Given the description of an element on the screen output the (x, y) to click on. 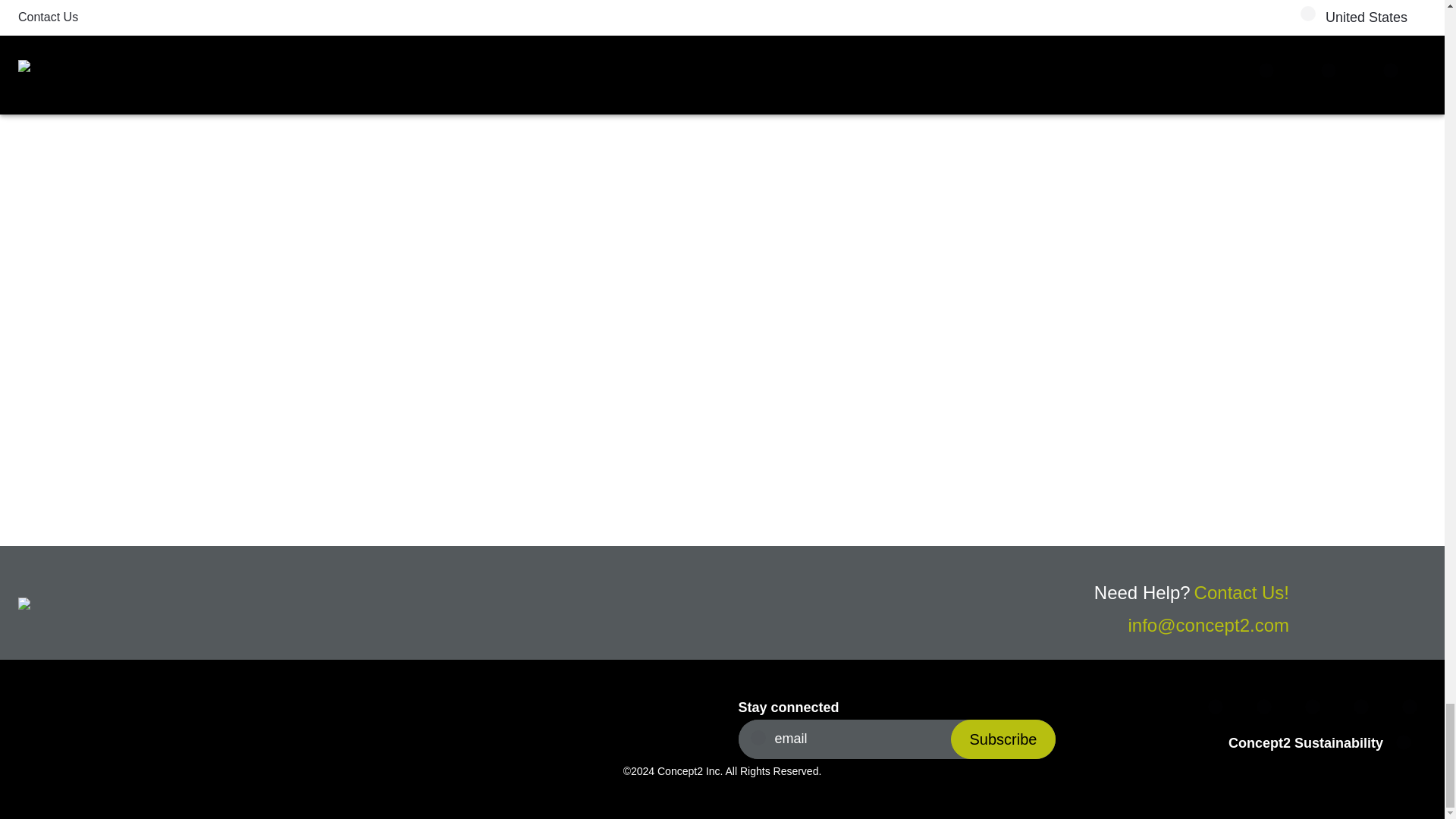
Subscribe (1003, 739)
Follow us on LinkedIn! (1365, 707)
Contact Us! (1240, 592)
Follow us on YouTube! (1414, 707)
Follow us on Facebook! (1219, 707)
Follow us on Instagram! (1316, 707)
